Given the description of an element on the screen output the (x, y) to click on. 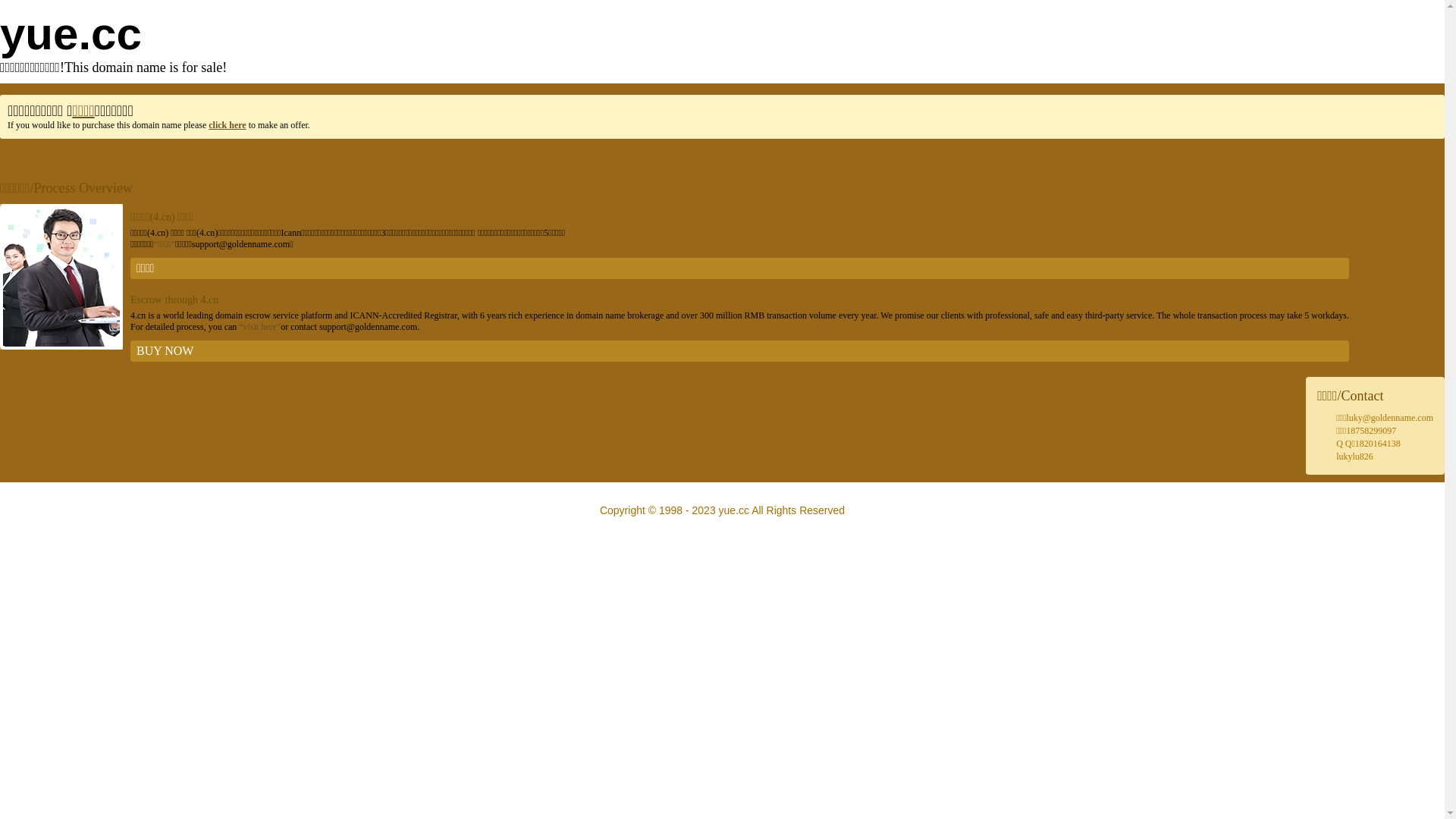
BUY NOW Element type: text (739, 350)
click here Element type: text (226, 124)
